Given the description of an element on the screen output the (x, y) to click on. 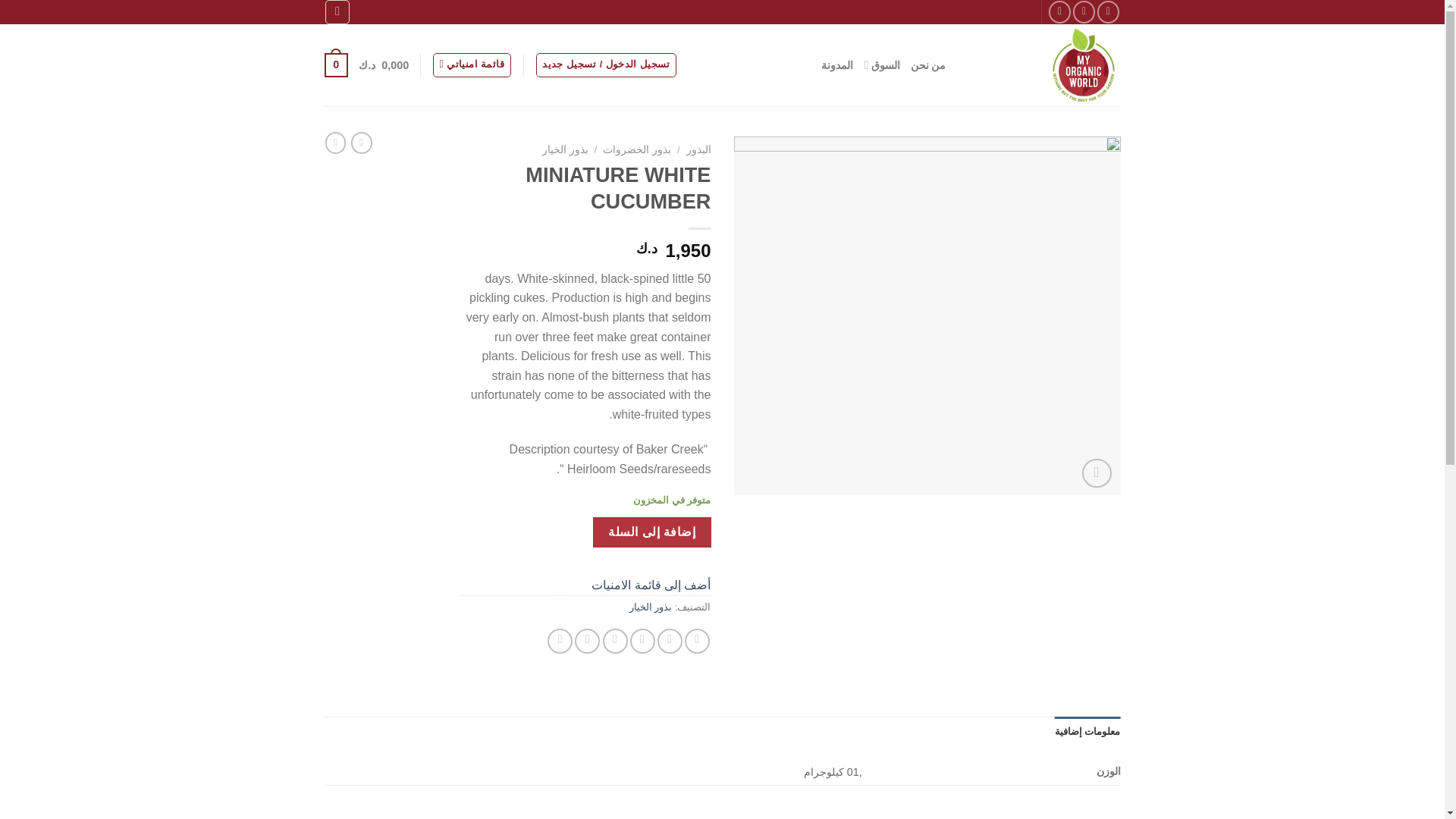
My Organic World - NOTHING BUT THE BEST FOR YOUR GARDEN (1045, 65)
